Given the description of an element on the screen output the (x, y) to click on. 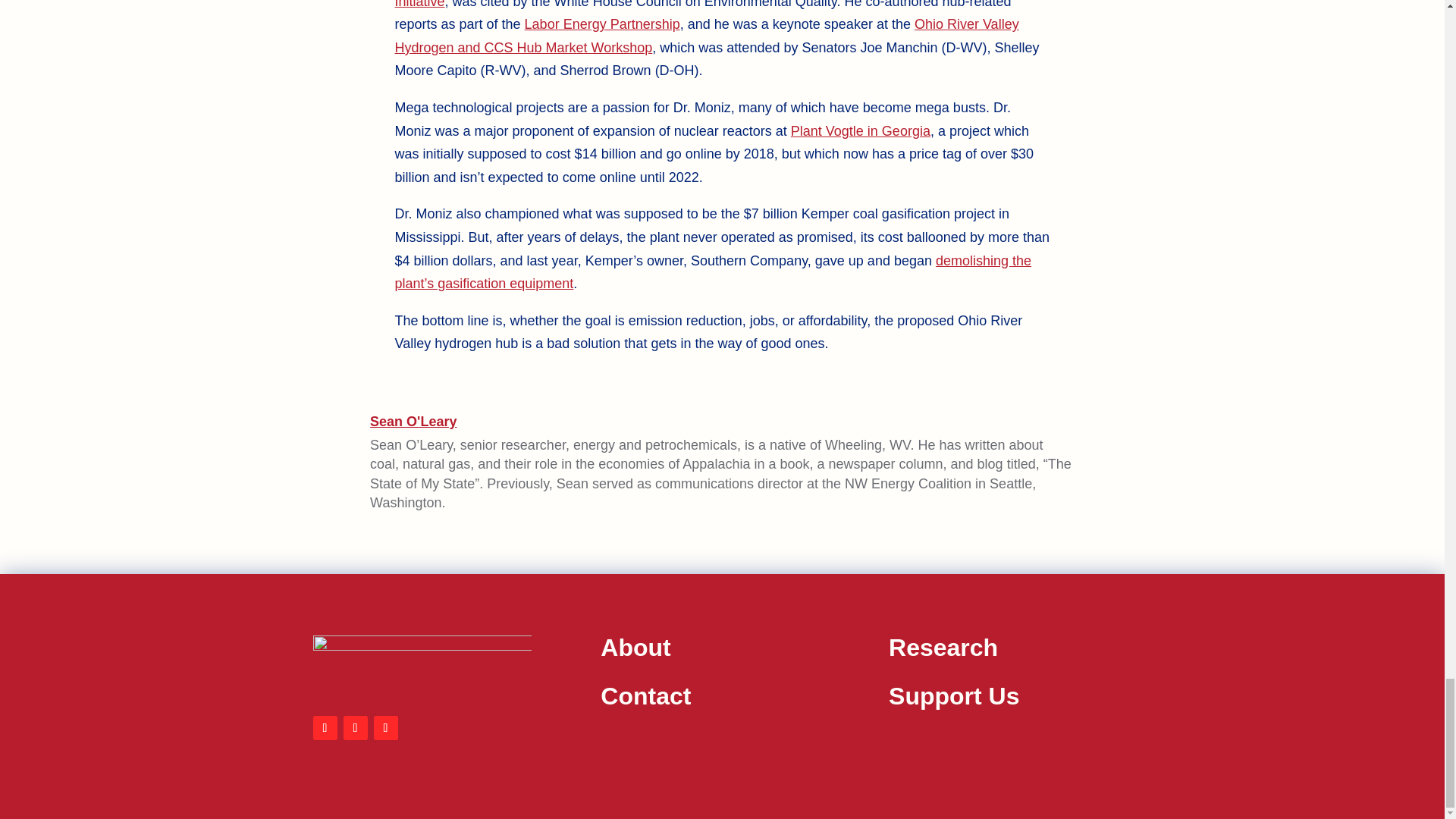
Follow on Twitter (354, 727)
Plant Vogtle in Georgia (860, 130)
Labor Energy Partnership (601, 23)
Sean O'Leary (413, 421)
Follow on Instagram (384, 727)
Energy Futures Initiative (721, 4)
ORVI Logo White Version-01 (422, 663)
Follow on Facebook (324, 727)
Ohio River Valley Hydrogen and CCS Hub Market Workshop (705, 35)
